Given the description of an element on the screen output the (x, y) to click on. 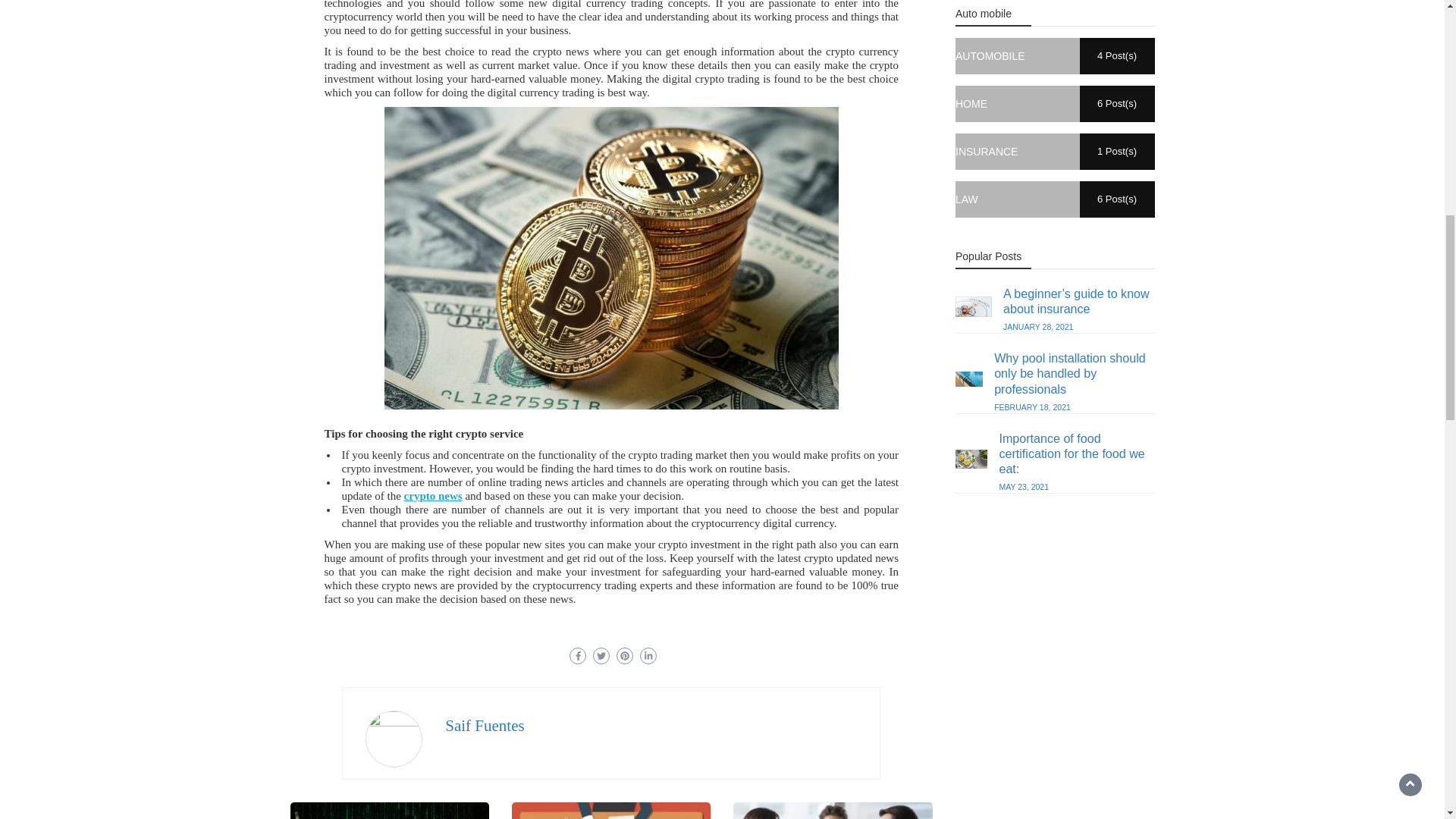
crypto news (433, 495)
Saif Fuentes (484, 725)
